Given the description of an element on the screen output the (x, y) to click on. 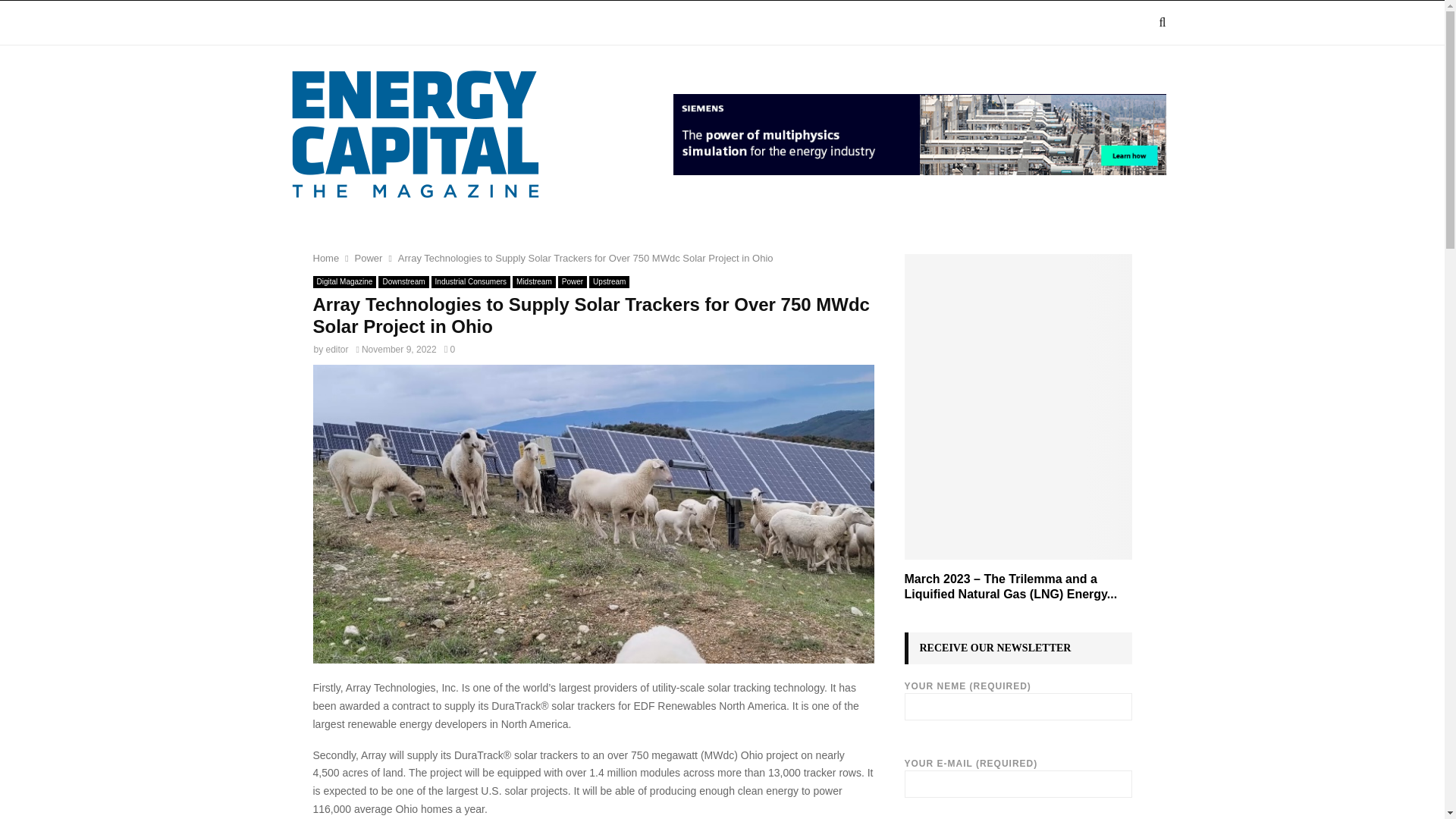
SECTORS (474, 22)
HOME (308, 22)
MAGAZINE (383, 22)
